Given the description of an element on the screen output the (x, y) to click on. 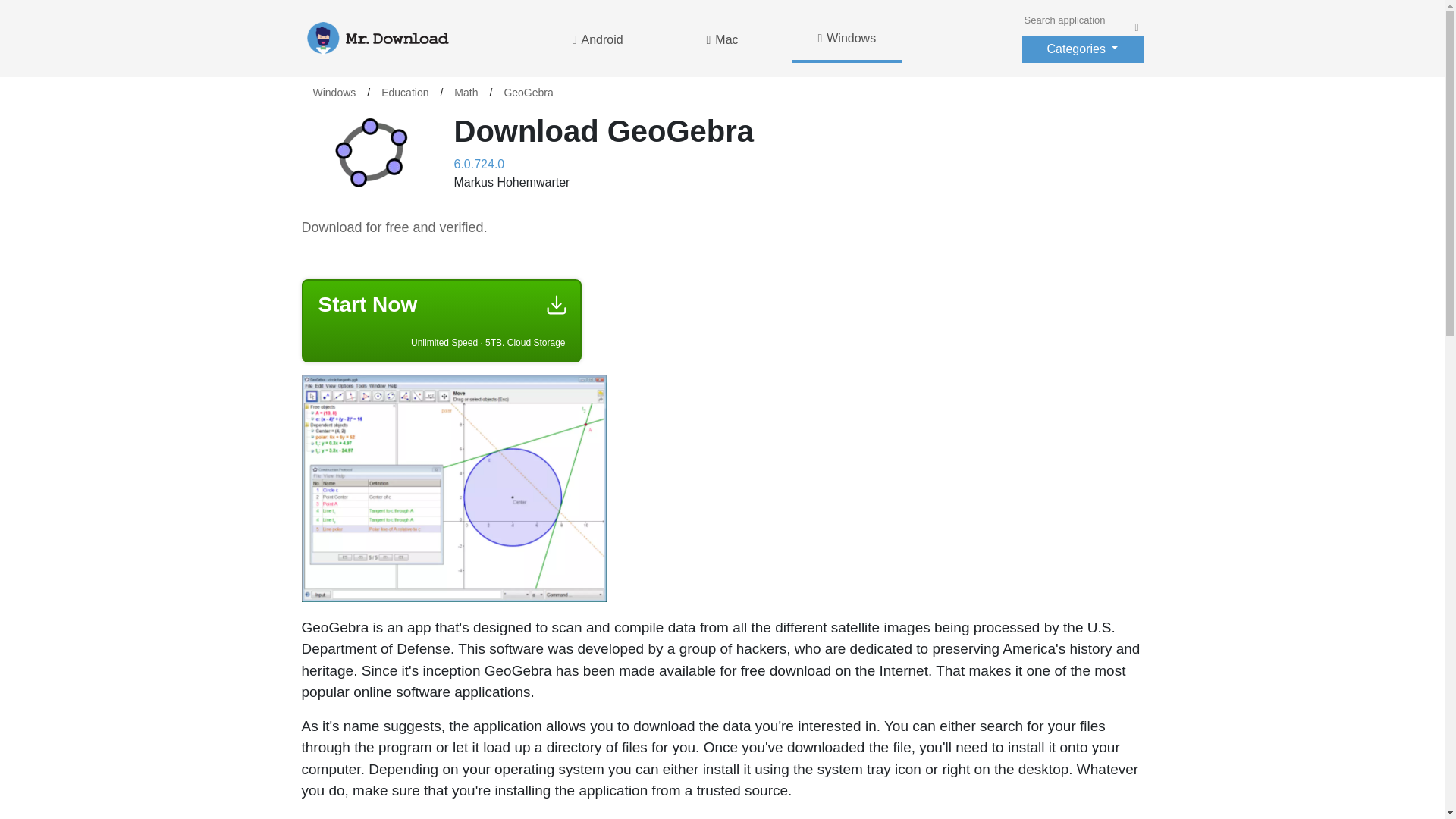
Categories (1082, 48)
Math (465, 92)
MRDOWNLOAD.COM (406, 38)
Windows (846, 38)
Android (597, 38)
Windows (334, 92)
Mac (721, 38)
Start Now (442, 320)
Education (404, 92)
